Given the description of an element on the screen output the (x, y) to click on. 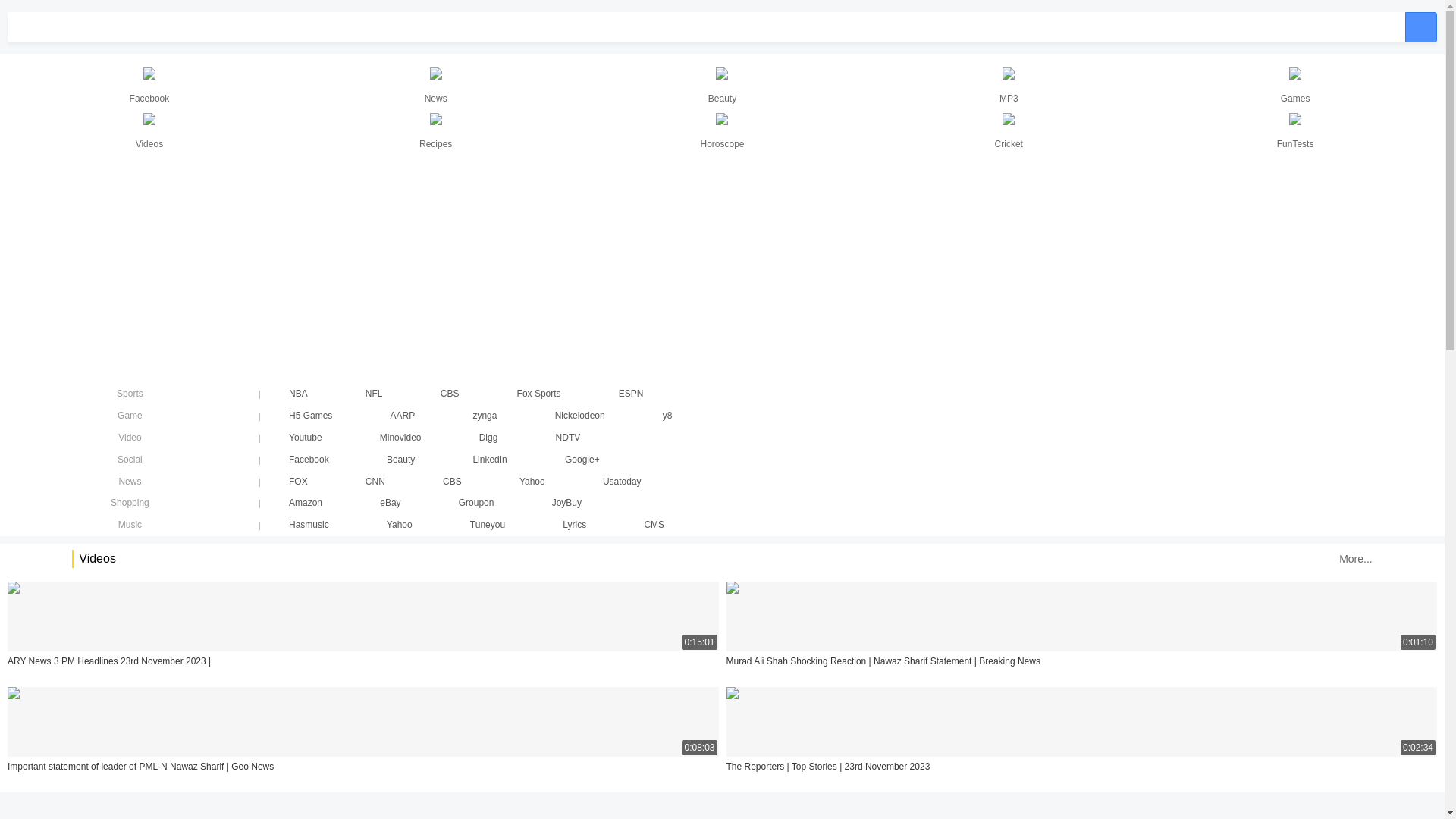
Shopping Element type: text (129, 502)
FOX Element type: text (297, 481)
CBS Element type: text (451, 481)
Fox Sports Element type: text (539, 393)
More... Element type: text (1355, 558)
CMS Element type: text (653, 524)
NBA Element type: text (297, 393)
LinkedIn Element type: text (489, 459)
Videos Element type: text (149, 131)
Minovideo Element type: text (400, 437)
Hasmusic Element type: text (308, 524)
CNN Element type: text (375, 481)
Google+ Element type: text (581, 459)
Music Element type: text (129, 524)
Yahoo Element type: text (399, 524)
Facebook Element type: text (308, 459)
0:15:01
ARY News 3 PM Headlines 23rd November 2023 | Element type: text (362, 630)
MP3 Element type: text (1008, 86)
Digg Element type: text (488, 437)
0:02:34
The Reporters | Top Stories | 23rd November 2023 Element type: text (1080, 735)
Advertisement Element type: hover (455, 269)
Youtube Element type: text (305, 437)
News Element type: text (129, 481)
AARP Element type: text (402, 415)
Search Element type: text (1420, 26)
Lyrics Element type: text (574, 524)
Cricket Element type: text (1008, 131)
CBS Element type: text (449, 393)
NFL Element type: text (373, 393)
Recipes Element type: text (435, 131)
Social Element type: text (129, 459)
Video Element type: text (129, 437)
Beauty Element type: text (722, 86)
Yahoo Element type: text (532, 481)
Groupon Element type: text (476, 502)
Usatoday Element type: text (621, 481)
Beauty Element type: text (400, 459)
ESPN Element type: text (630, 393)
JoyBuy Element type: text (566, 502)
Games Element type: text (1294, 86)
eBay Element type: text (389, 502)
Horoscope Element type: text (722, 131)
H5 Games Element type: text (310, 415)
Sports Element type: text (129, 393)
Nickelodeon Element type: text (580, 415)
NDTV Element type: text (567, 437)
FunTests Element type: text (1294, 131)
Amazon Element type: text (305, 502)
zynga Element type: text (484, 415)
Game Element type: text (129, 415)
y8 Element type: text (667, 415)
Facebook Element type: text (149, 86)
Tuneyou Element type: text (487, 524)
News Element type: text (435, 86)
